Given the description of an element on the screen output the (x, y) to click on. 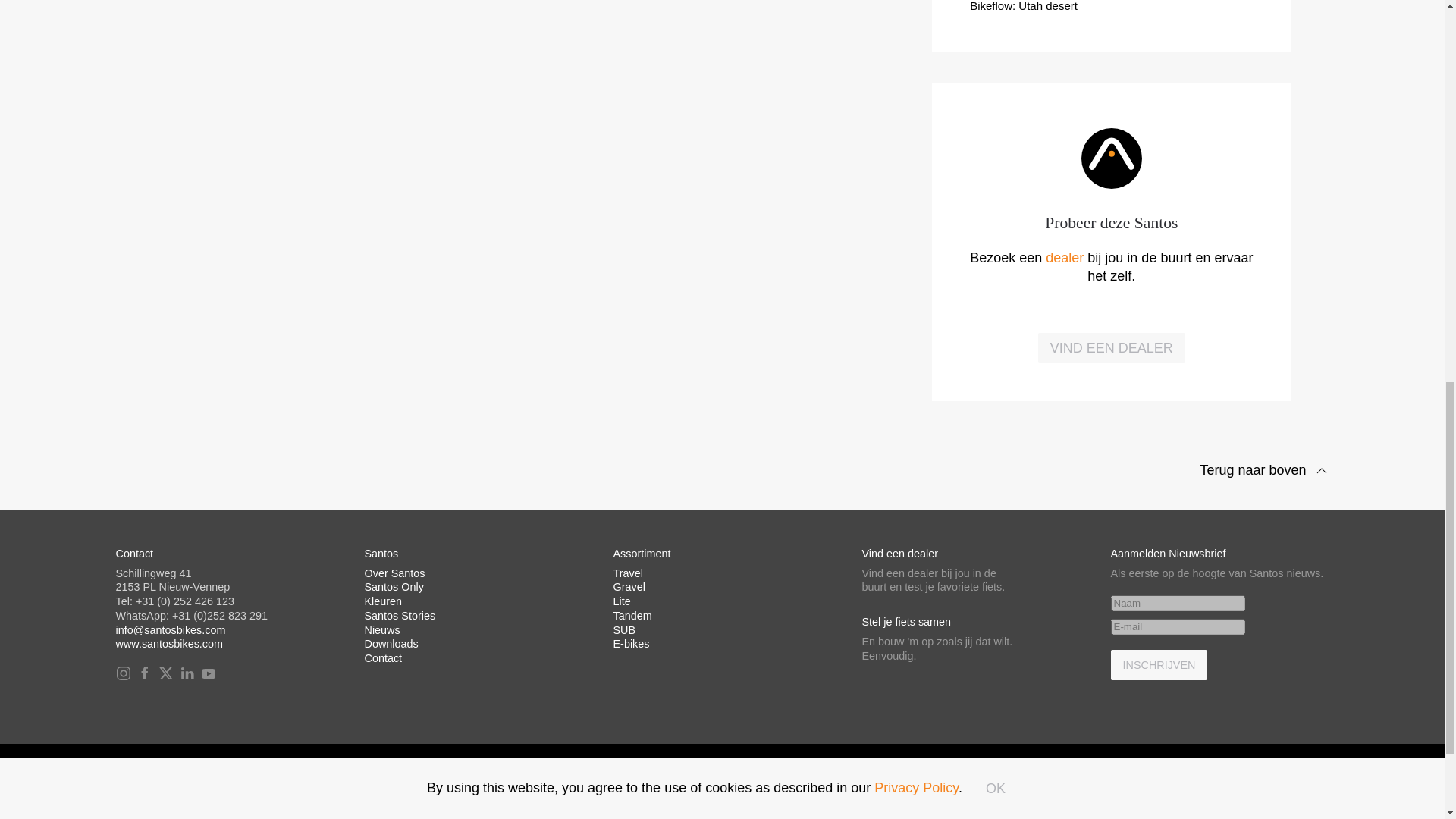
Inschrijven (1158, 665)
